Given the description of an element on the screen output the (x, y) to click on. 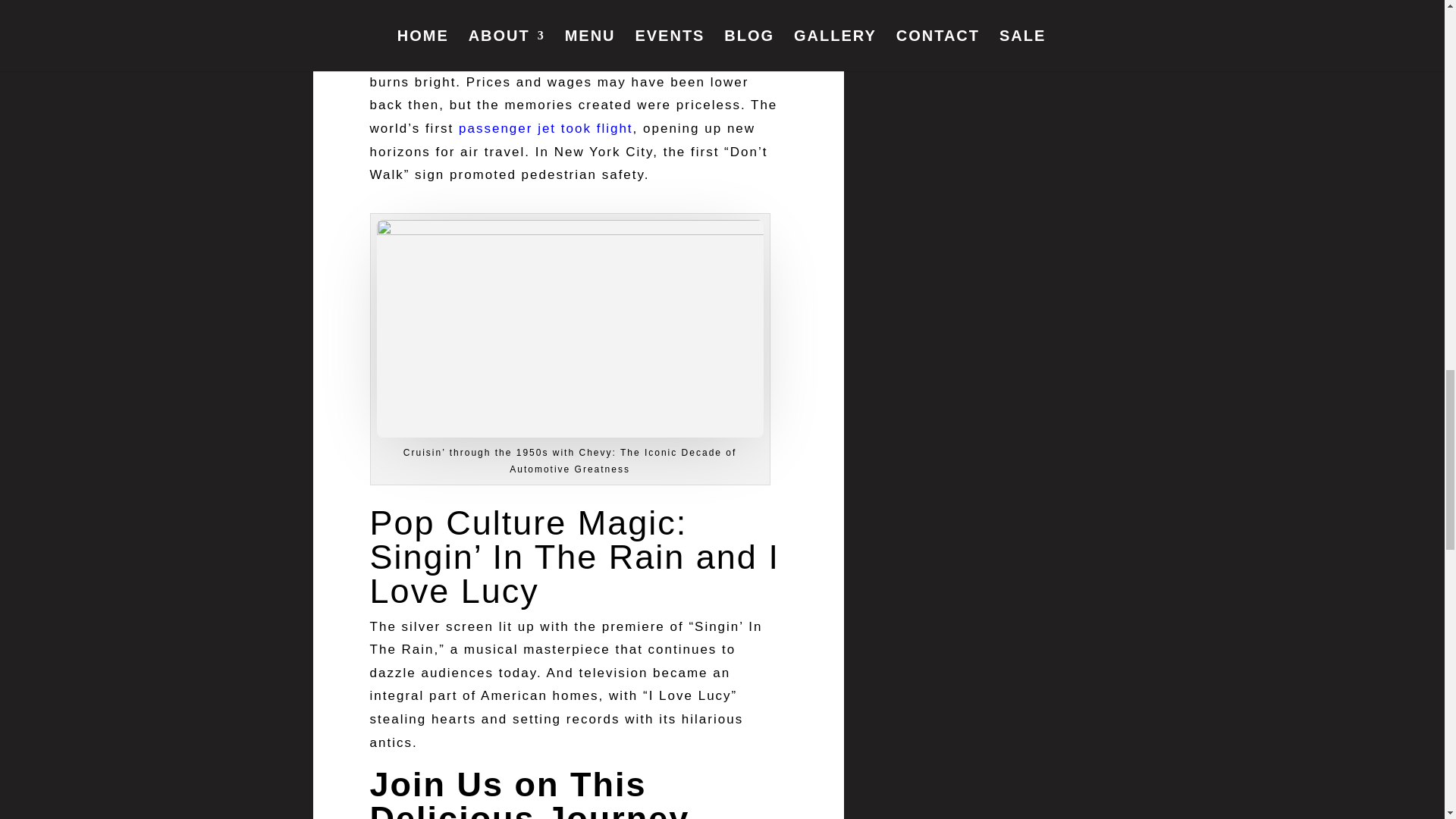
passenger jet took flight (545, 128)
